Given the description of an element on the screen output the (x, y) to click on. 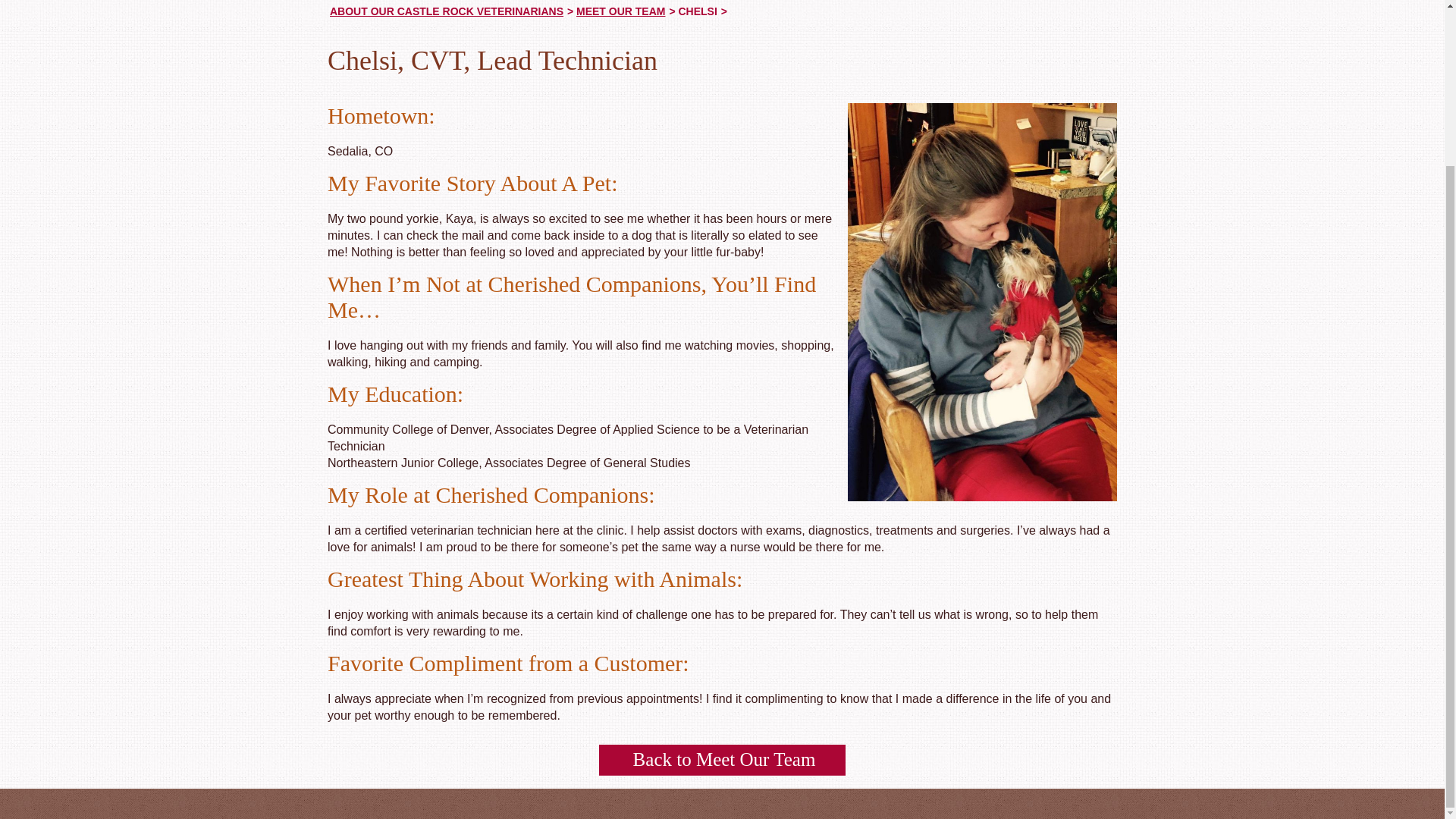
MEET OUR TEAM (620, 10)
Go to Meet Our Team. (620, 10)
ABOUT OUR CASTLE ROCK VETERINARIANS (446, 10)
Go to About Our Castle Rock Veterinarians. (446, 10)
Back to Meet Our Team (721, 759)
